Given the description of an element on the screen output the (x, y) to click on. 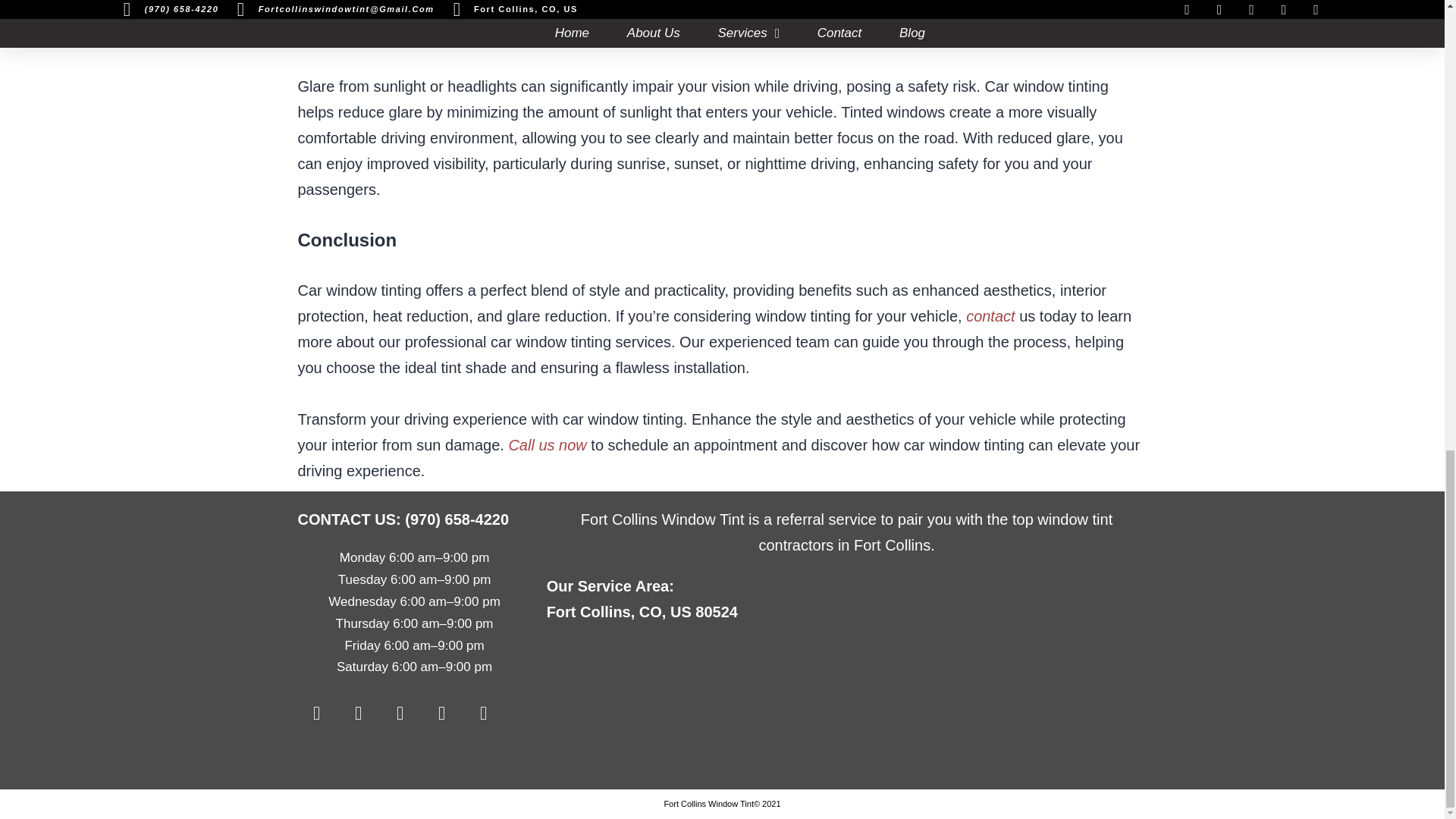
Fort Collins, CO, US (847, 706)
